Given the description of an element on the screen output the (x, y) to click on. 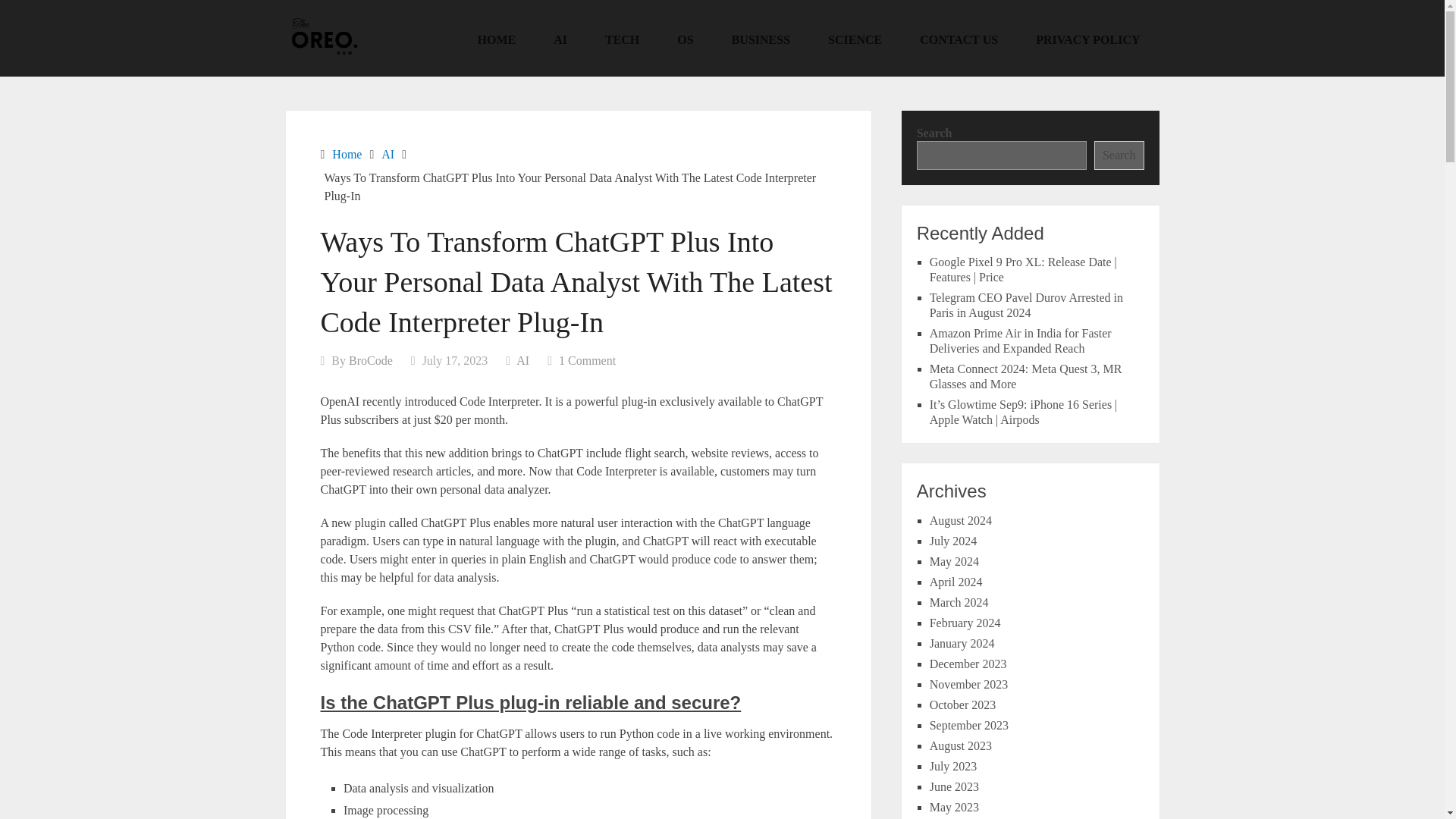
September 2023 (969, 725)
February 2024 (965, 622)
Meta Connect 2024: Meta Quest 3, MR Glasses and More (1026, 376)
Telegram CEO Pavel Durov Arrested in Paris in August 2024 (1026, 305)
November 2023 (969, 684)
AI (387, 154)
Posts by BroCode (371, 359)
December 2023 (968, 663)
HOME (496, 39)
